Given the description of an element on the screen output the (x, y) to click on. 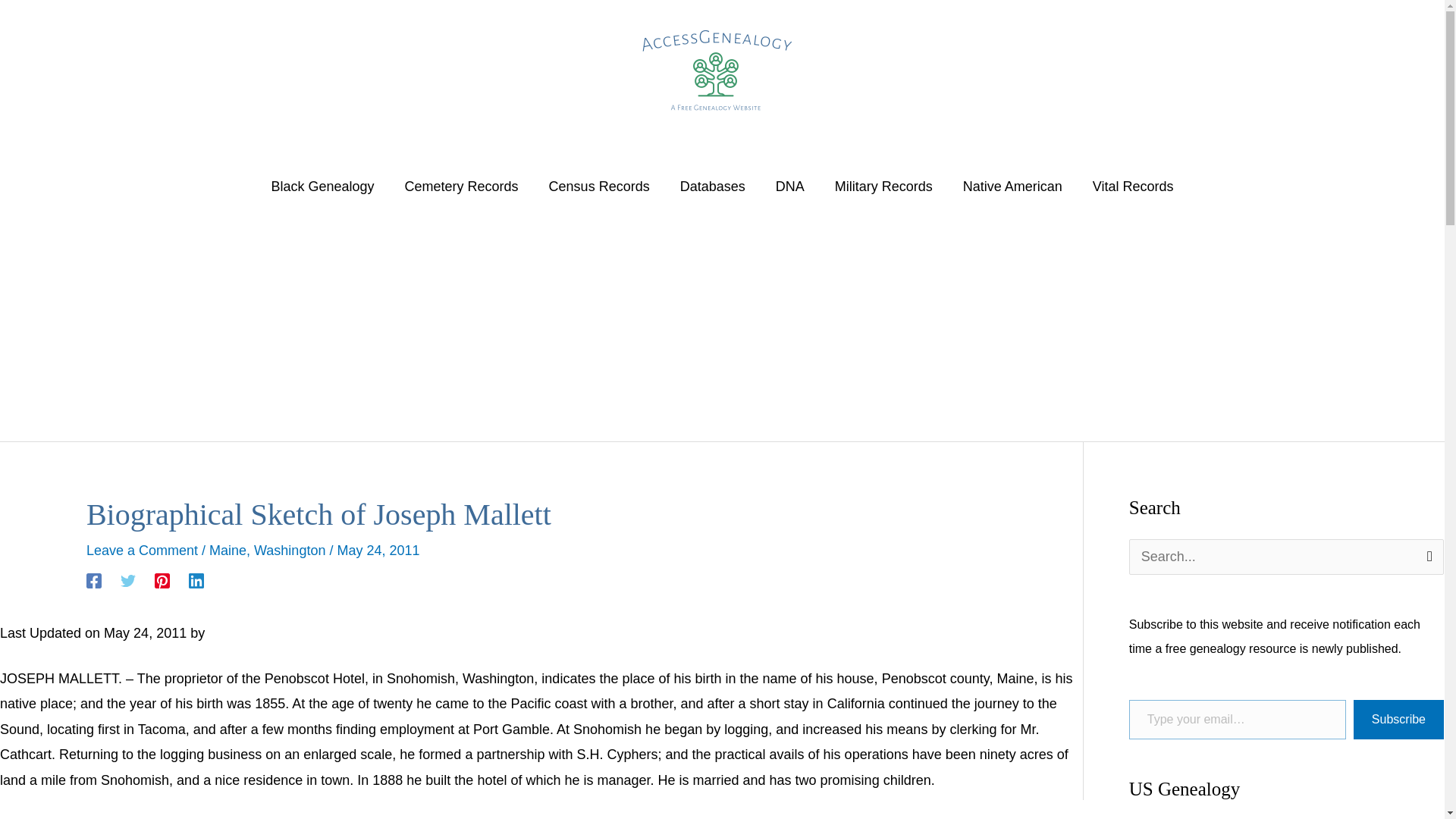
Cemetery Records (462, 185)
Washington (288, 549)
Leave a Comment (141, 549)
Census Records (599, 185)
United States Military Records (883, 185)
Maine (227, 549)
Military Records (883, 185)
Genealogy Databases (712, 185)
Please fill in this field. (1237, 720)
Black Genealogy (322, 185)
